Given the description of an element on the screen output the (x, y) to click on. 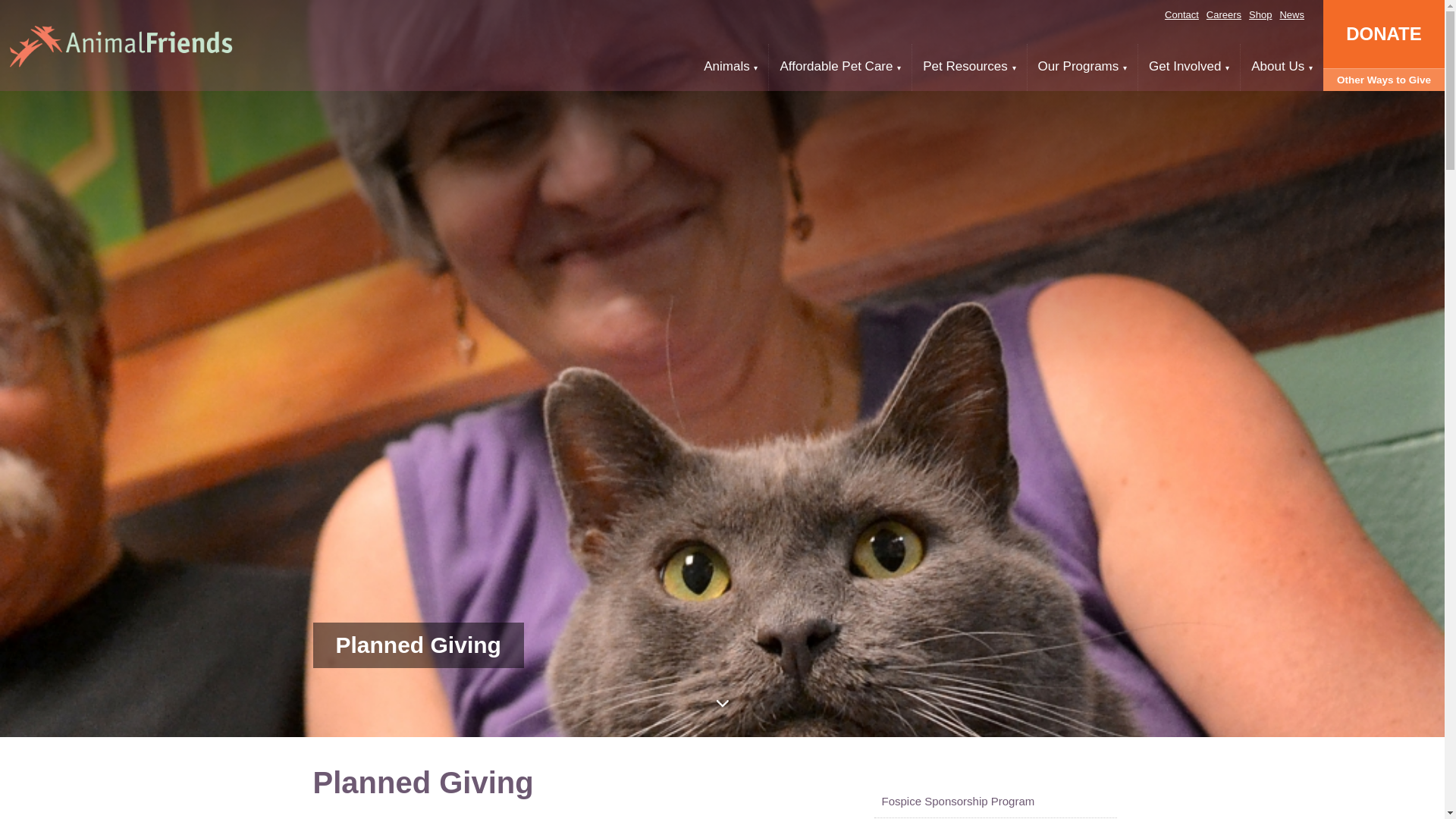
Animals (730, 67)
Our Programs (1082, 67)
Pet Resources (969, 67)
Go to Animal Friends, Inc. Home Page (120, 45)
Affordable Pet Care (840, 67)
